Given the description of an element on the screen output the (x, y) to click on. 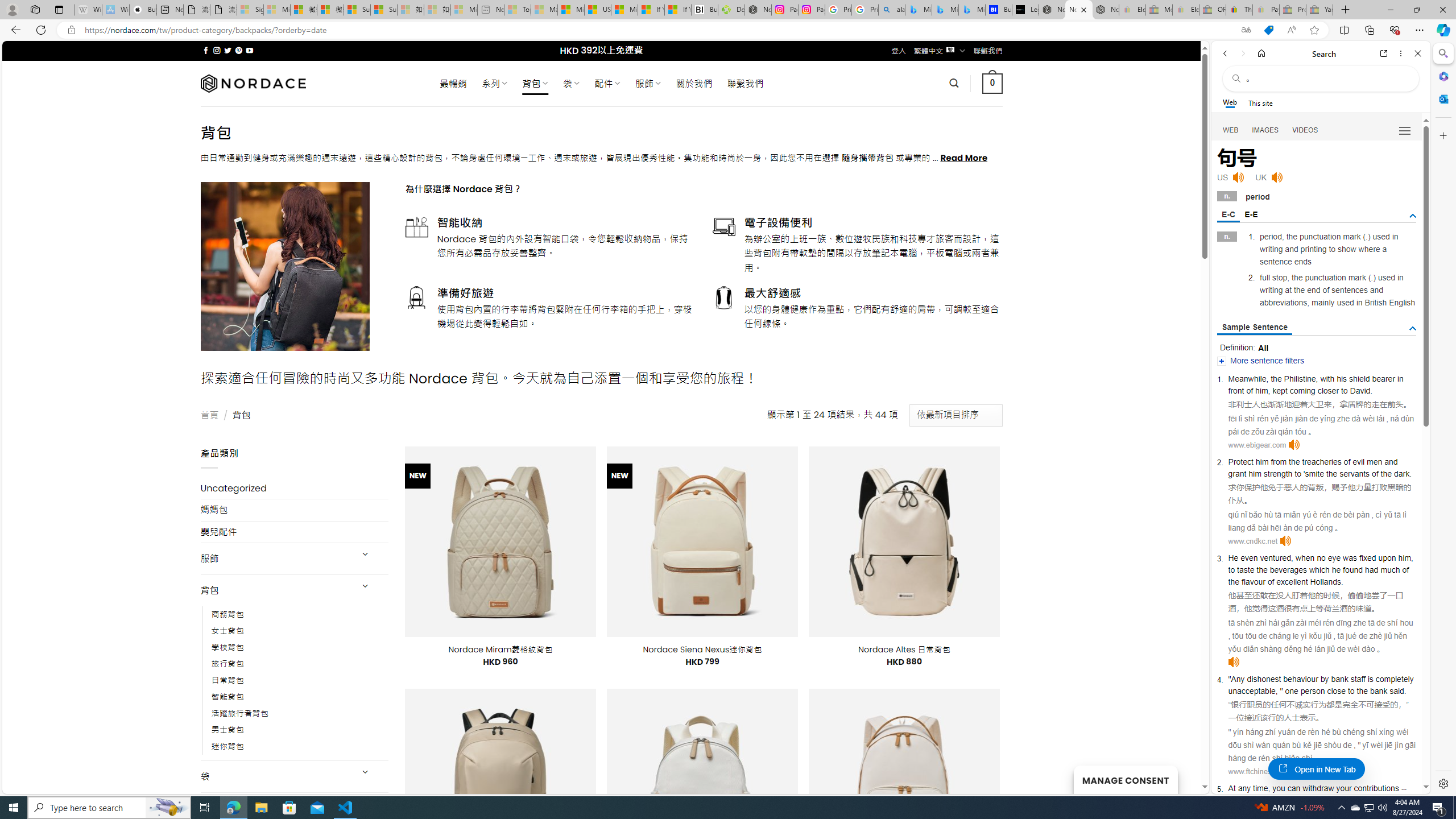
close (1336, 690)
bank (1378, 690)
no (1321, 557)
AutomationID: tgdef_sen (1412, 328)
